Given the description of an element on the screen output the (x, y) to click on. 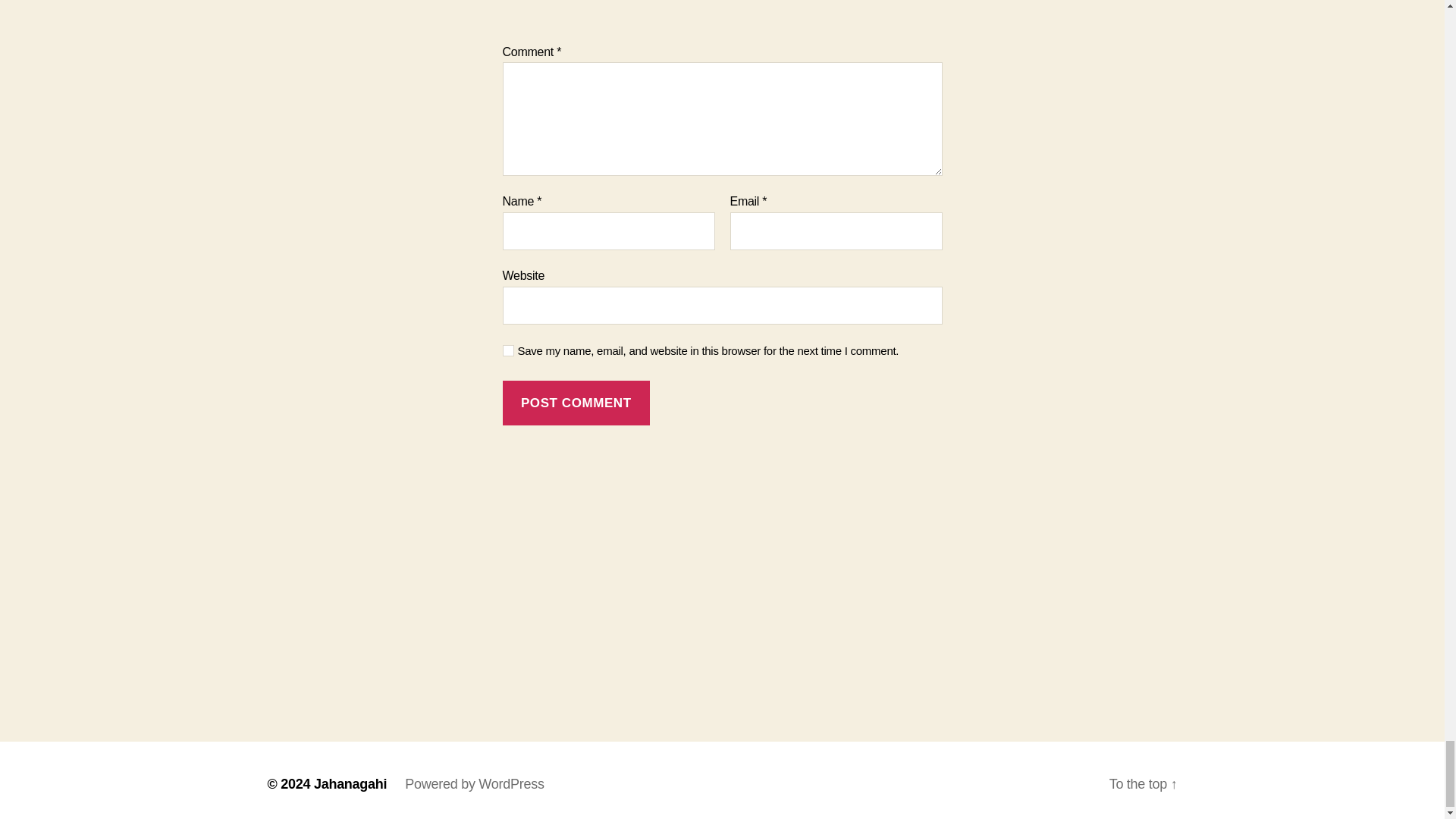
Post Comment (575, 402)
Powered by WordPress (473, 783)
yes (507, 350)
Post Comment (575, 402)
Jahanagahi (350, 783)
